Given the description of an element on the screen output the (x, y) to click on. 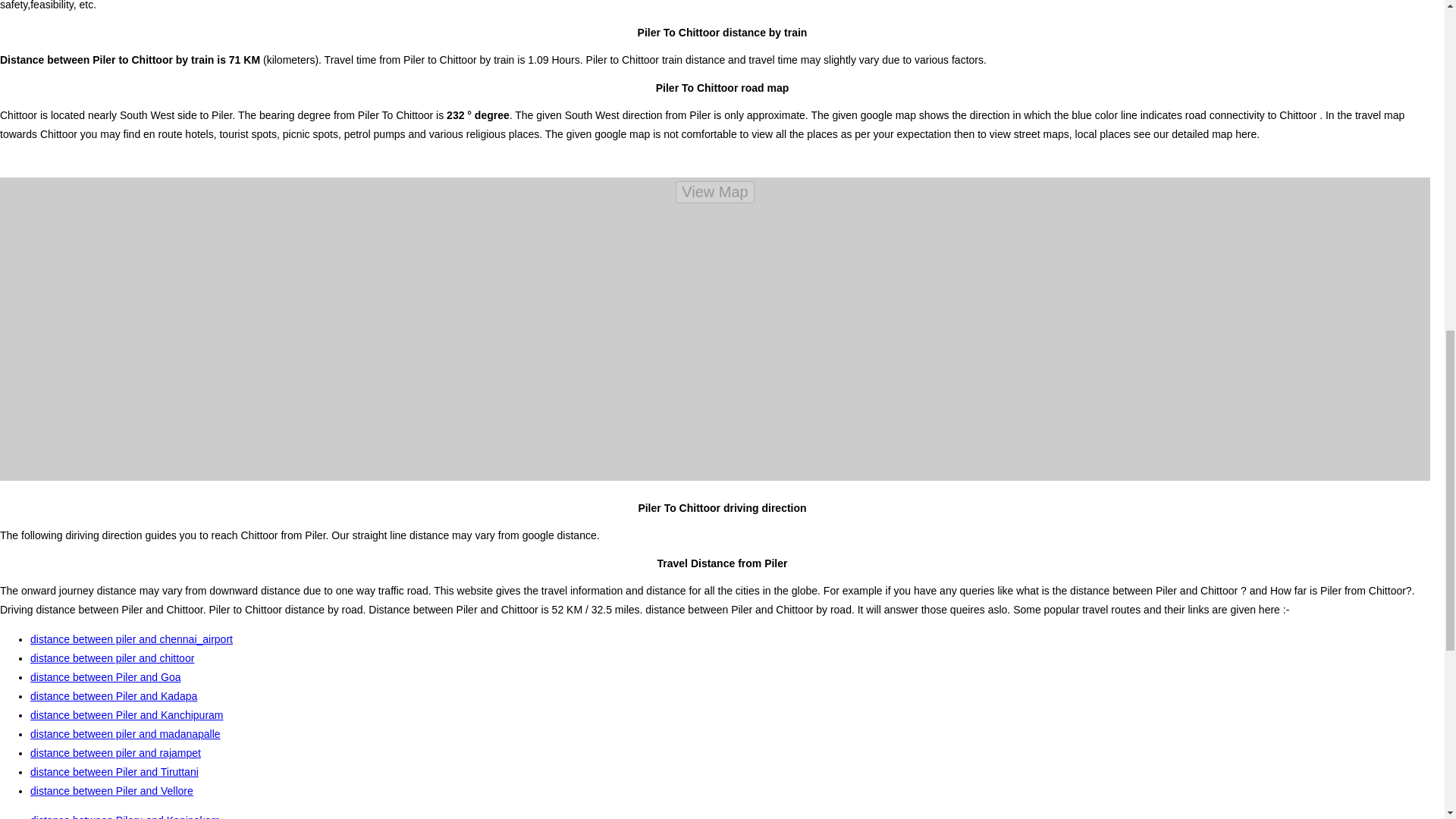
distance between piler and rajampet (115, 752)
distance between Piler and Kanchipuram (127, 715)
distance between piler and madanapalle (125, 734)
distance between piler and chittoor (111, 657)
View Map (714, 191)
distance between Piler and Kadapa (113, 695)
distance between Piler and Goa (105, 676)
distance between Pileru and Kanipakam (124, 816)
distance between Piler and Vellore (111, 790)
distance between Piler and Tiruttani (114, 771)
